Given the description of an element on the screen output the (x, y) to click on. 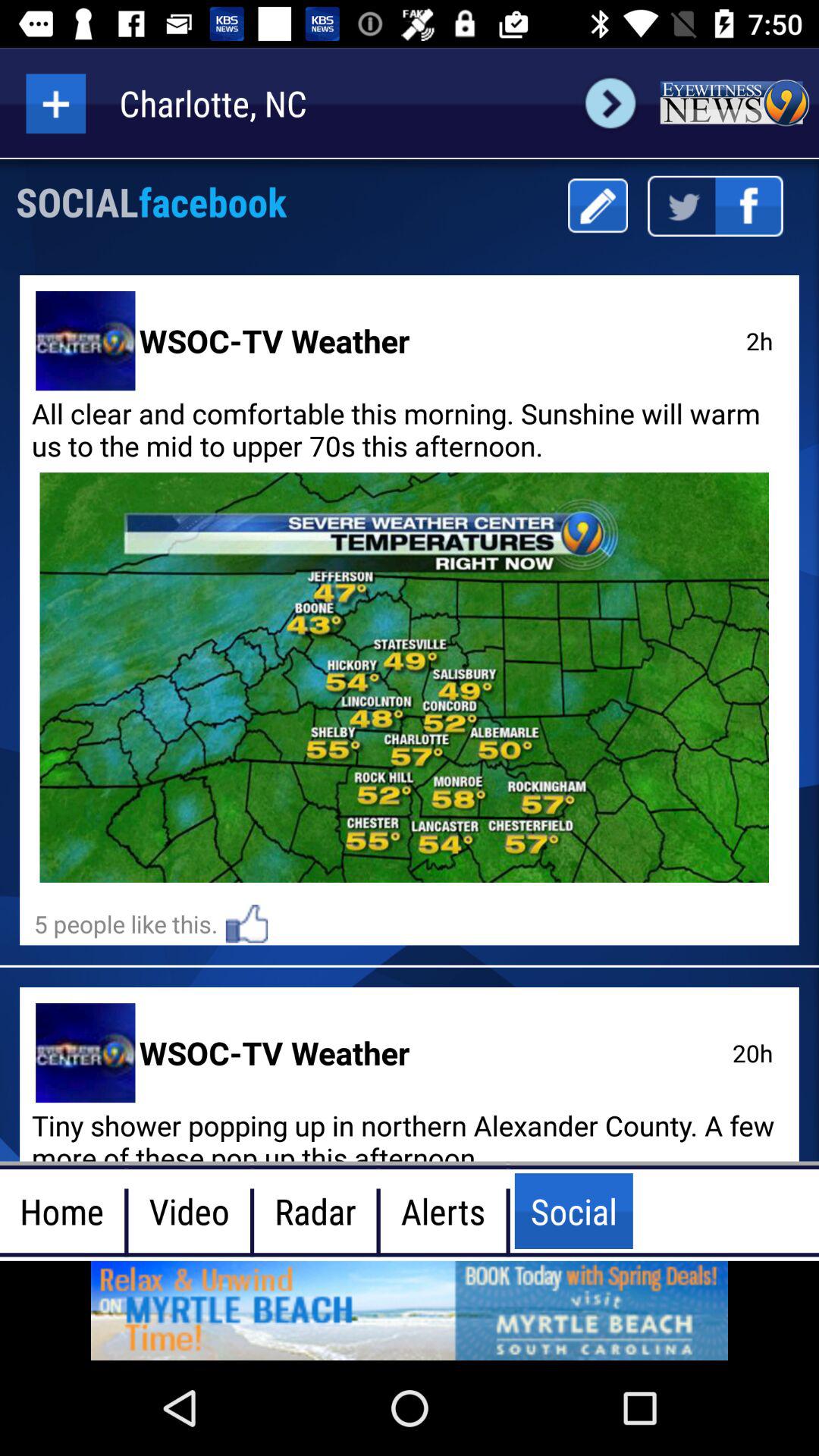
more option (55, 103)
